Given the description of an element on the screen output the (x, y) to click on. 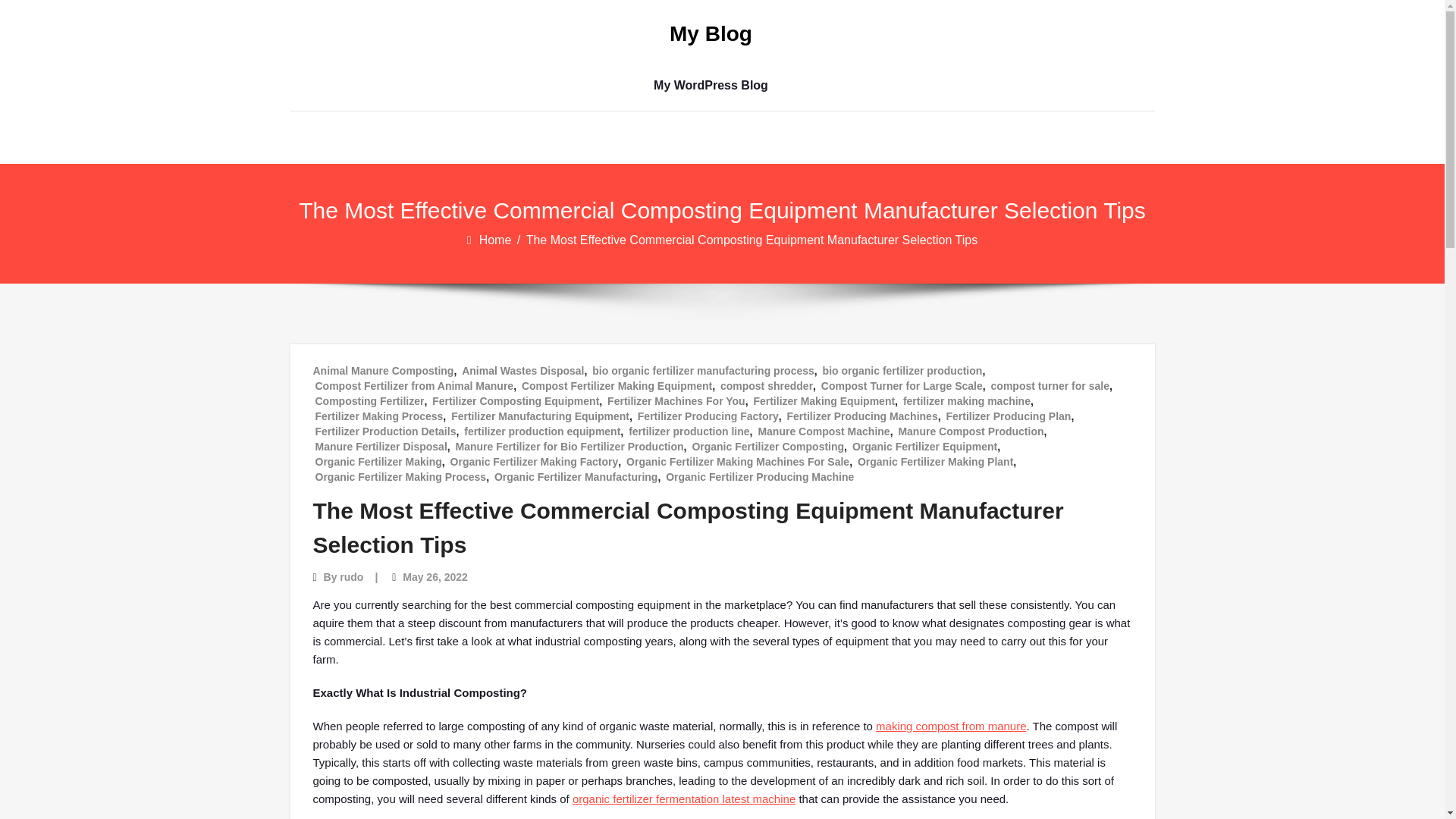
Organic Fertilizer Manufacturing (576, 476)
Fertilizer Machines For You (676, 400)
Organic Fertilizer Making Factory (533, 461)
Fertilizer Manufacturing Equipment (539, 416)
Organic Fertilizer Making Machines For Sale (737, 461)
fertilizer making machine (966, 400)
Organic Fertilizer Equipment (924, 446)
Organic Fertilizer Making Plant (935, 461)
bio organic fertilizer manufacturing process (702, 370)
Animal Wastes Disposal (522, 370)
